Given the description of an element on the screen output the (x, y) to click on. 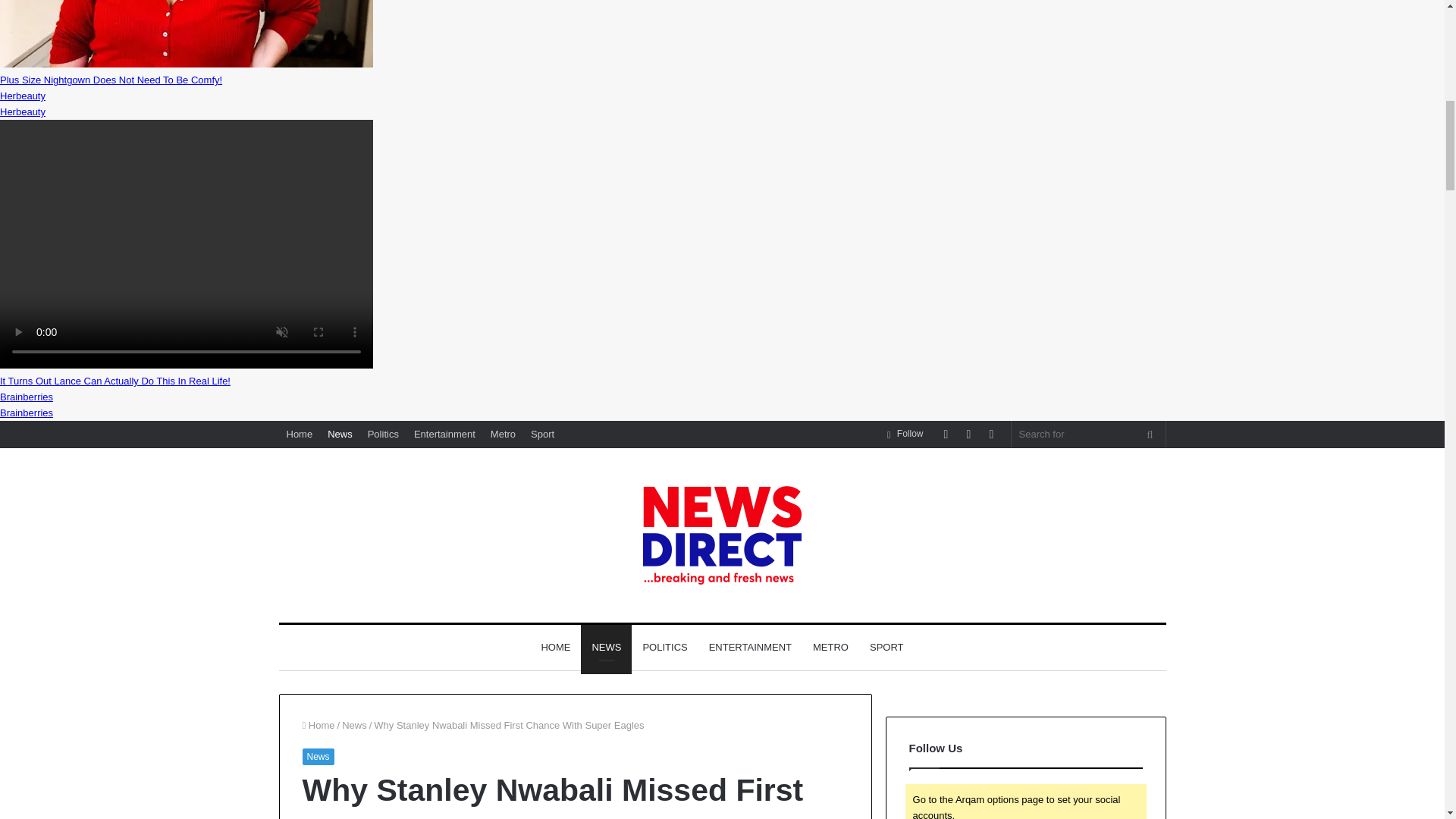
News (317, 756)
SPORT (886, 647)
Follow (905, 433)
Search for (1150, 433)
NEWS (605, 647)
Entertainment (444, 433)
Home (317, 725)
News (354, 725)
News (339, 433)
Politics (382, 433)
